Given the description of an element on the screen output the (x, y) to click on. 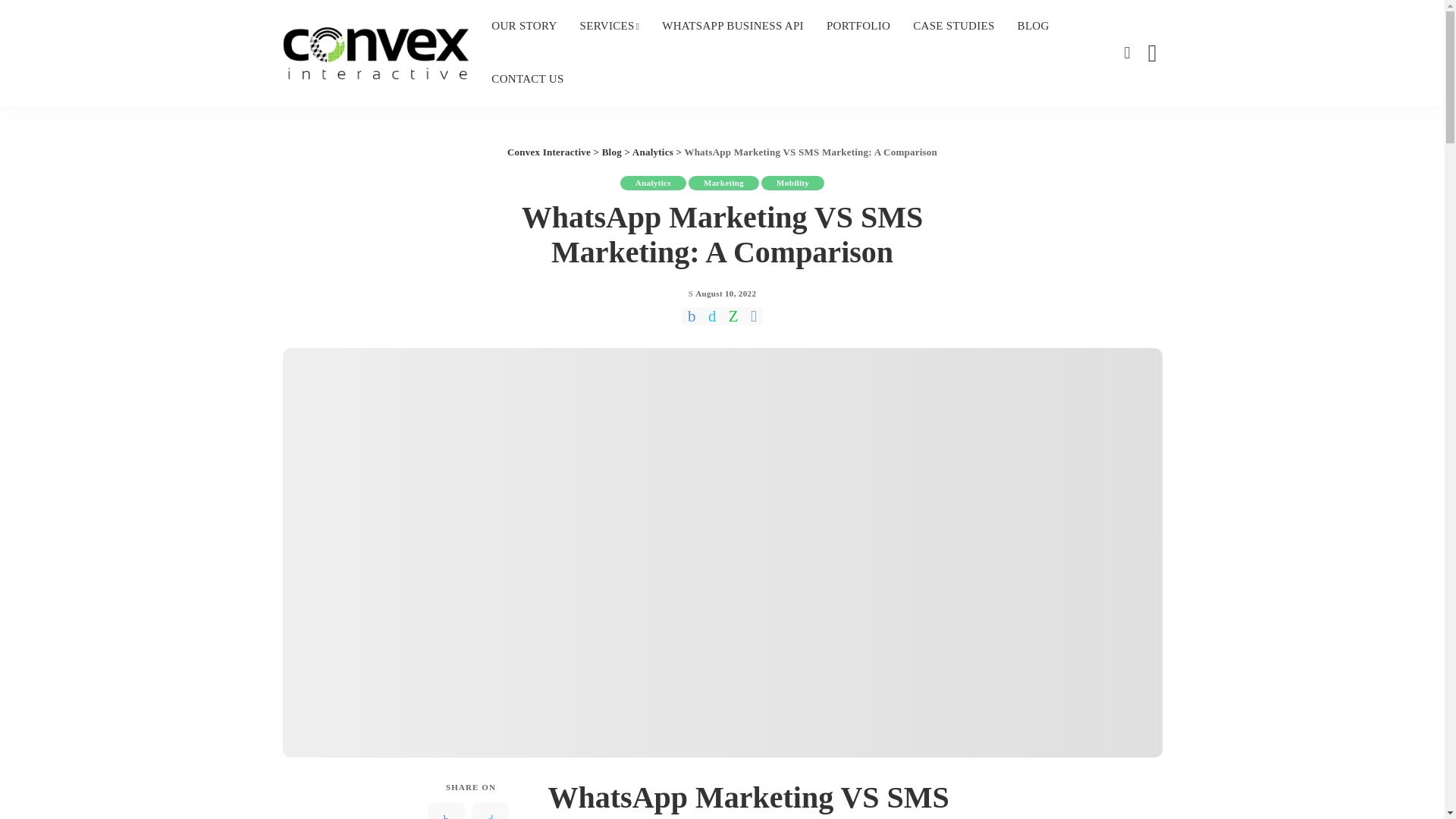
Convex Interactive (375, 52)
